Given the description of an element on the screen output the (x, y) to click on. 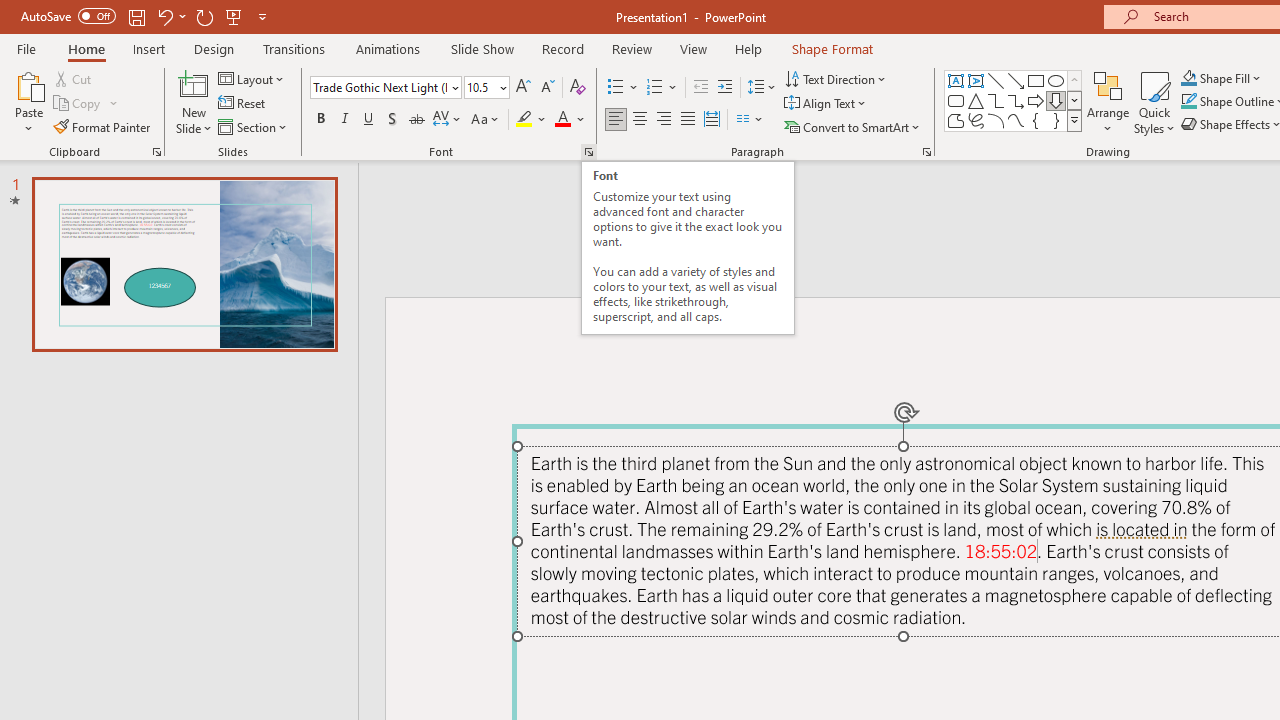
Office Clipboard... (156, 151)
Font (385, 87)
Section (254, 126)
Freeform: Shape (955, 120)
Copy (85, 103)
Shape Format (832, 48)
Increase Indent (725, 87)
Shape Outline Teal, Accent 1 (1188, 101)
Bullets (623, 87)
Shape Fill Aqua, Accent 2 (1188, 78)
Arrow: Down (1055, 100)
